Given the description of an element on the screen output the (x, y) to click on. 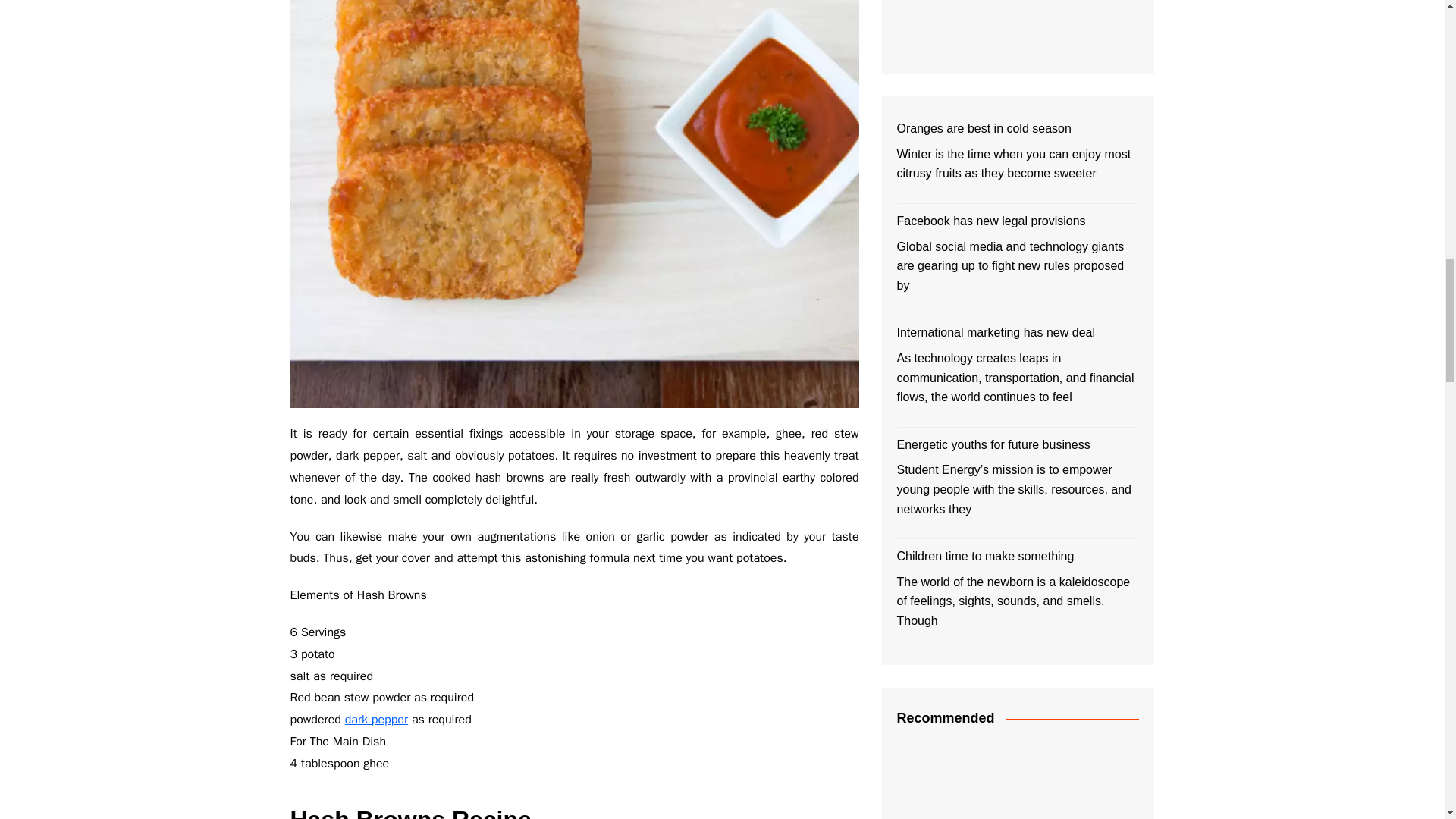
dark pepper (376, 719)
